Given the description of an element on the screen output the (x, y) to click on. 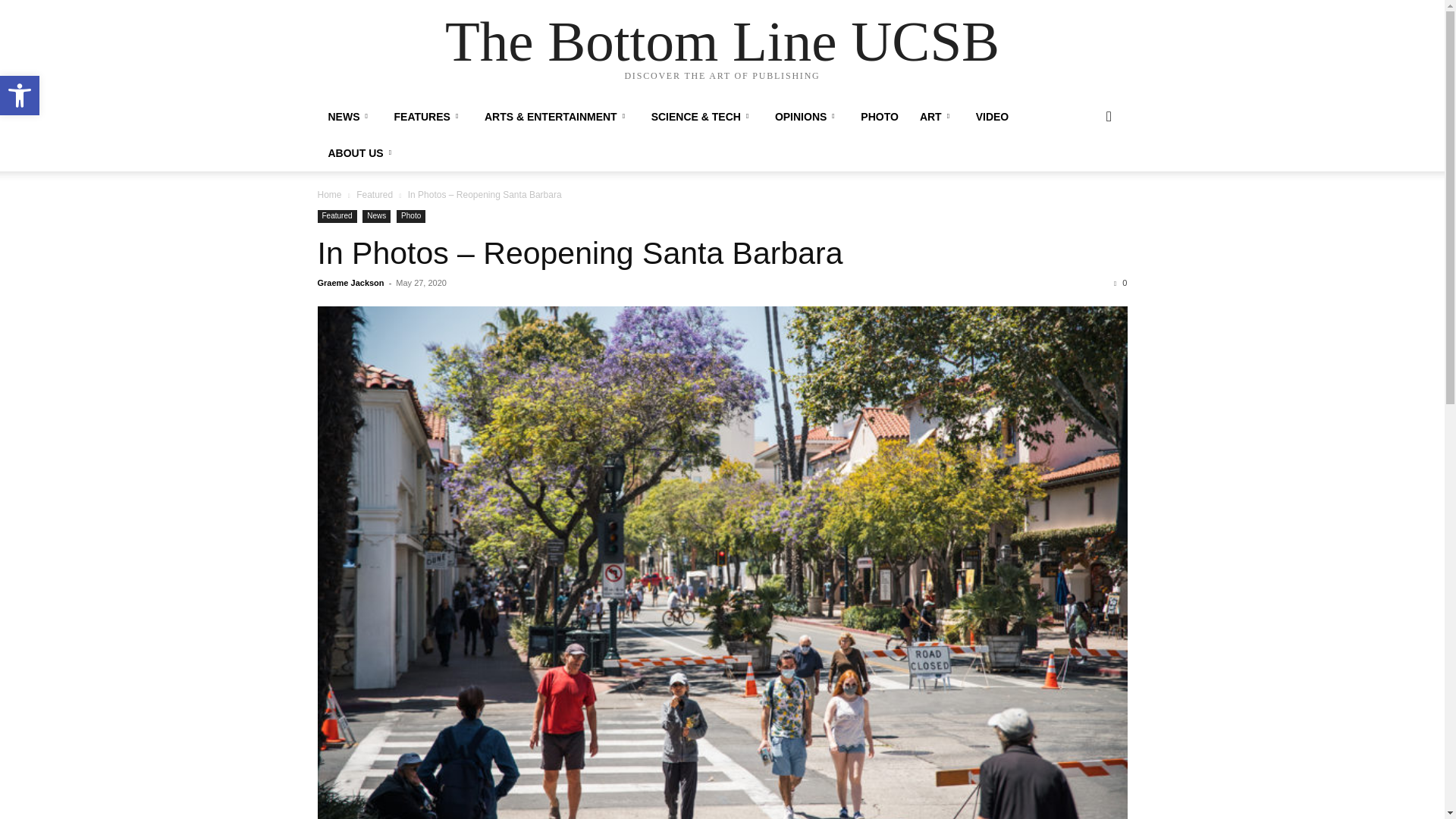
Accessibility Tools (19, 95)
Accessibility Tools (19, 95)
